Given the description of an element on the screen output the (x, y) to click on. 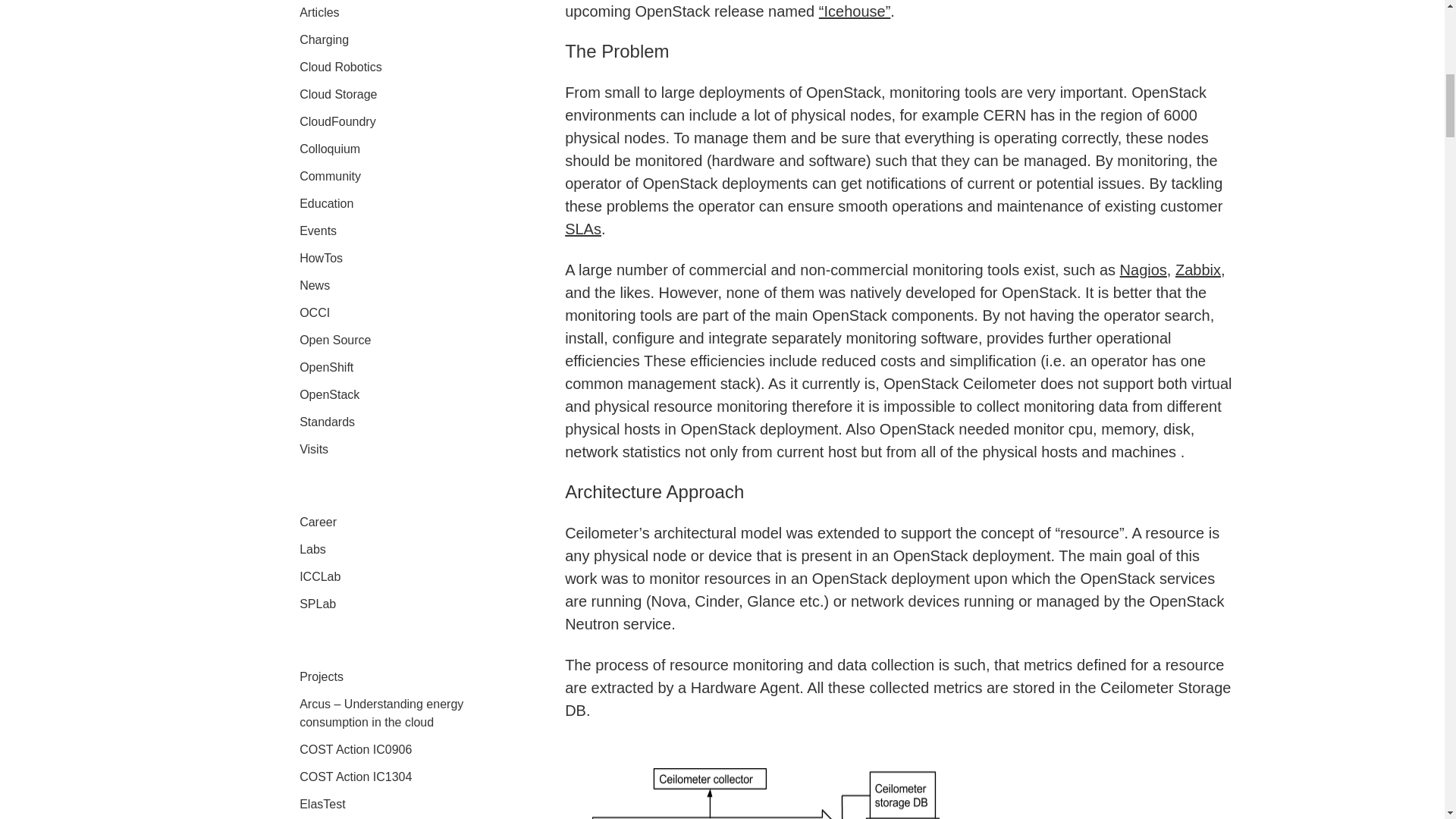
HowTos (320, 257)
Education (326, 203)
OpenStack (329, 394)
Open Source (335, 339)
Cloud Robotics (340, 66)
OCCI (314, 312)
Articles (319, 11)
CloudFoundry (337, 121)
Charging (324, 39)
Standards (327, 421)
